Given the description of an element on the screen output the (x, y) to click on. 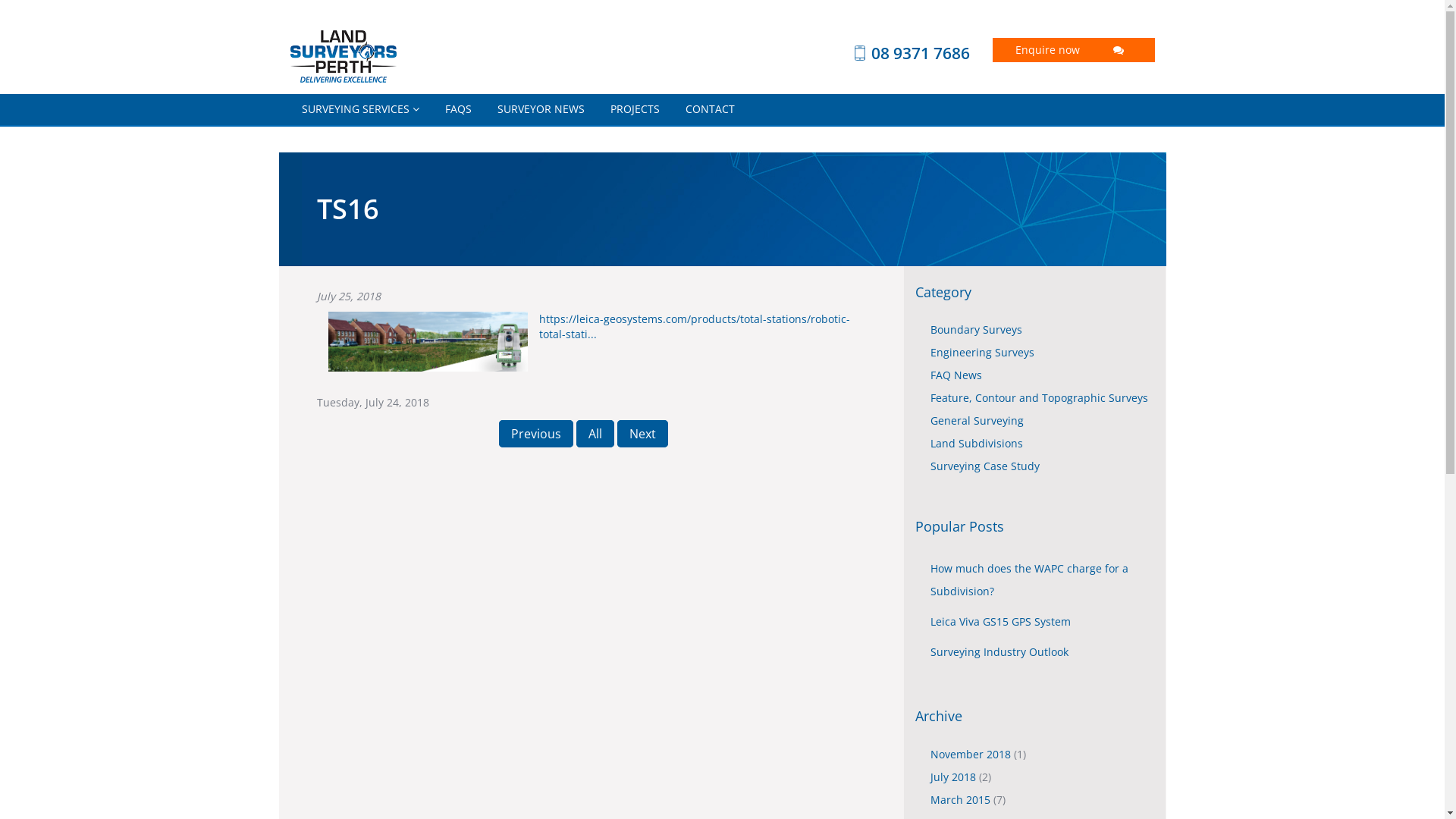
Land Subdivisions Element type: text (976, 443)
CONTACT Element type: text (709, 109)
November 2018 Element type: text (971, 753)
July 2018 Element type: text (954, 776)
Enquire now Element type: text (1073, 49)
Feature, Contour and Topographic Surveys Element type: text (1039, 397)
Previous Element type: text (535, 433)
FAQ News Element type: text (956, 374)
08 9371 7686 Element type: text (888, 52)
Next Element type: text (642, 433)
Surveying Industry Outlook Element type: text (999, 651)
How much does the WAPC charge for a Subdivision? Element type: text (1029, 579)
General Surveying Element type: text (976, 420)
SURVEYOR NEWS Element type: text (540, 109)
FAQS Element type: text (458, 109)
All Element type: text (595, 433)
March 2015 Element type: text (961, 799)
PROJECTS Element type: text (635, 109)
Engineering Surveys Element type: text (982, 352)
Leica Viva GS15 GPS System Element type: text (1000, 621)
Boundary Surveys Element type: text (976, 329)
SURVEYING SERVICES Element type: text (359, 109)
Surveying Case Study Element type: text (984, 465)
